Given the description of an element on the screen output the (x, y) to click on. 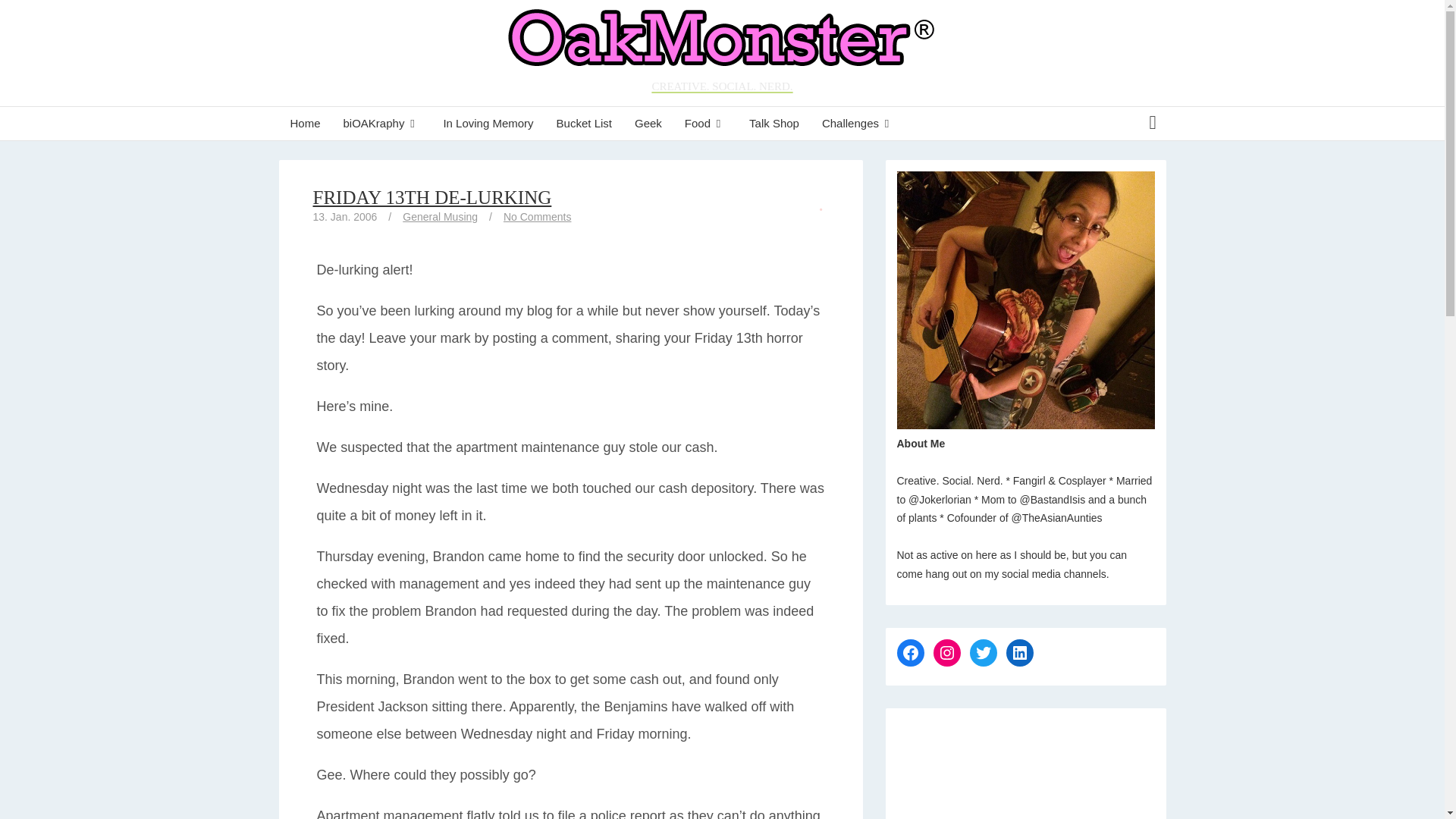
FRIDAY 13TH DE-LURKING (432, 197)
a little life story (381, 123)
Food (705, 123)
CREATIVE. SOCIAL. NERD. (722, 53)
Talk Shop (774, 123)
No Comments (536, 216)
View all posts in General Musing (440, 216)
Oakley remembers her late mother (487, 123)
biOAKraphy (381, 123)
Challenges (857, 123)
Bucket List (583, 123)
In Loving Memory (487, 123)
Geek (647, 123)
Home (305, 123)
General Musing (440, 216)
